Given the description of an element on the screen output the (x, y) to click on. 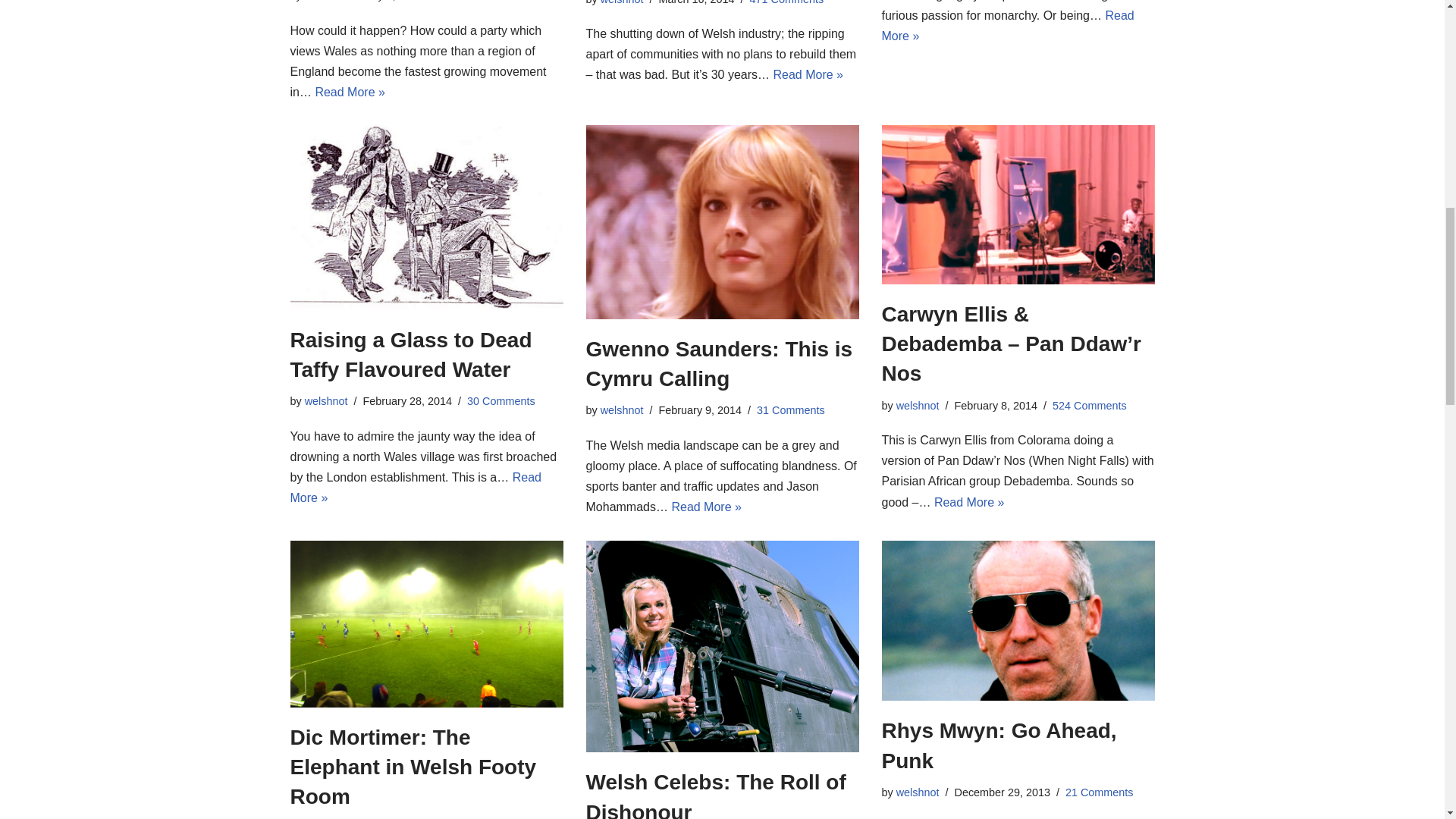
welshnot (325, 400)
Raising a Glass to Dead Taffy Flavoured Water (425, 217)
welshnot (325, 0)
471 Comments (786, 2)
Posts by welshnot (325, 400)
Gwenno Saunders: This is Cymru Calling (722, 222)
Raising a Glass to Dead Taffy Flavoured Water (410, 354)
Posts by welshnot (325, 0)
Posts by welshnot (621, 2)
welshnot (621, 2)
30 Comments (501, 400)
